Given the description of an element on the screen output the (x, y) to click on. 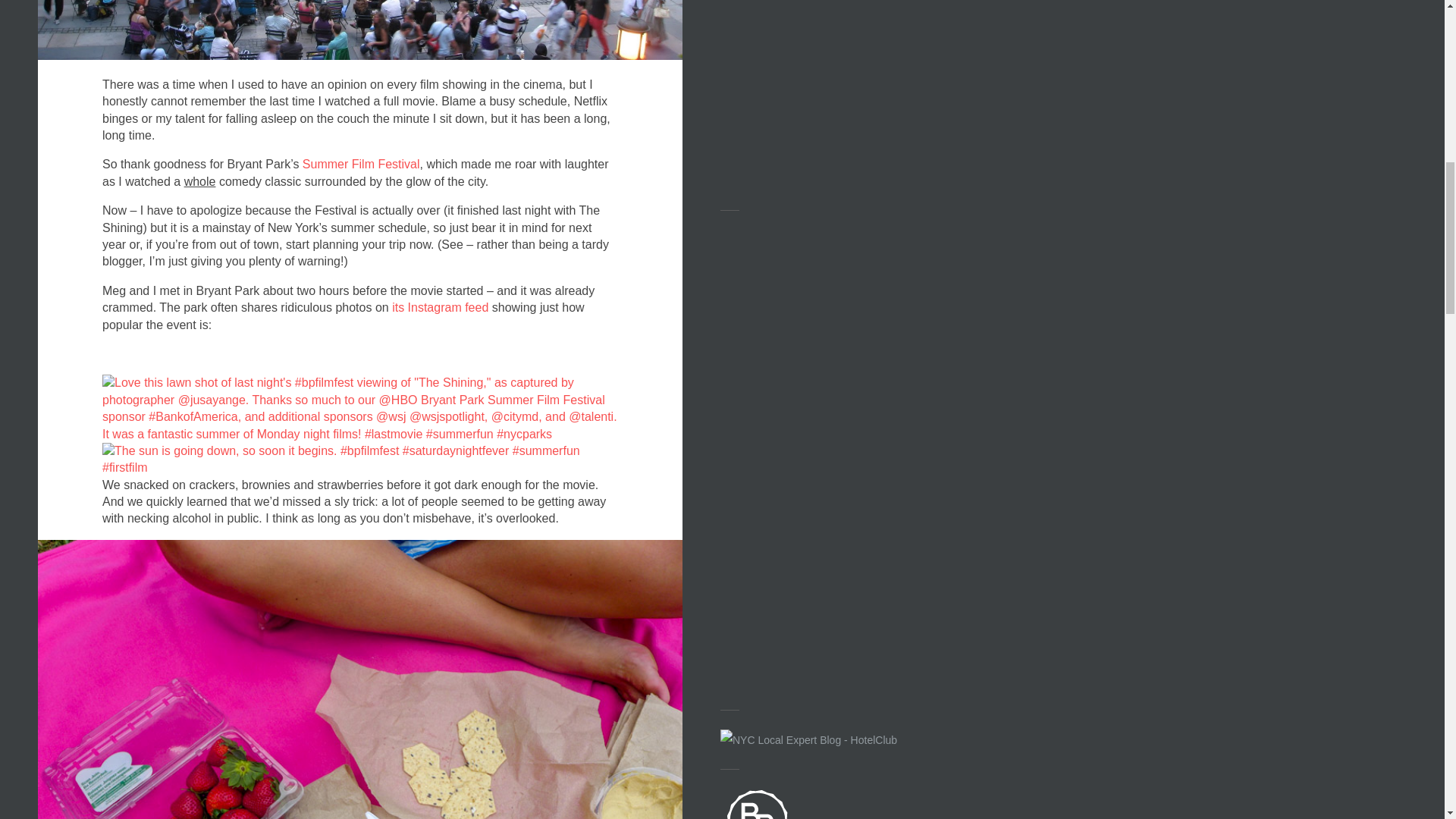
Summer Film Festival (358, 164)
its Instagram feed (441, 307)
